Given the description of an element on the screen output the (x, y) to click on. 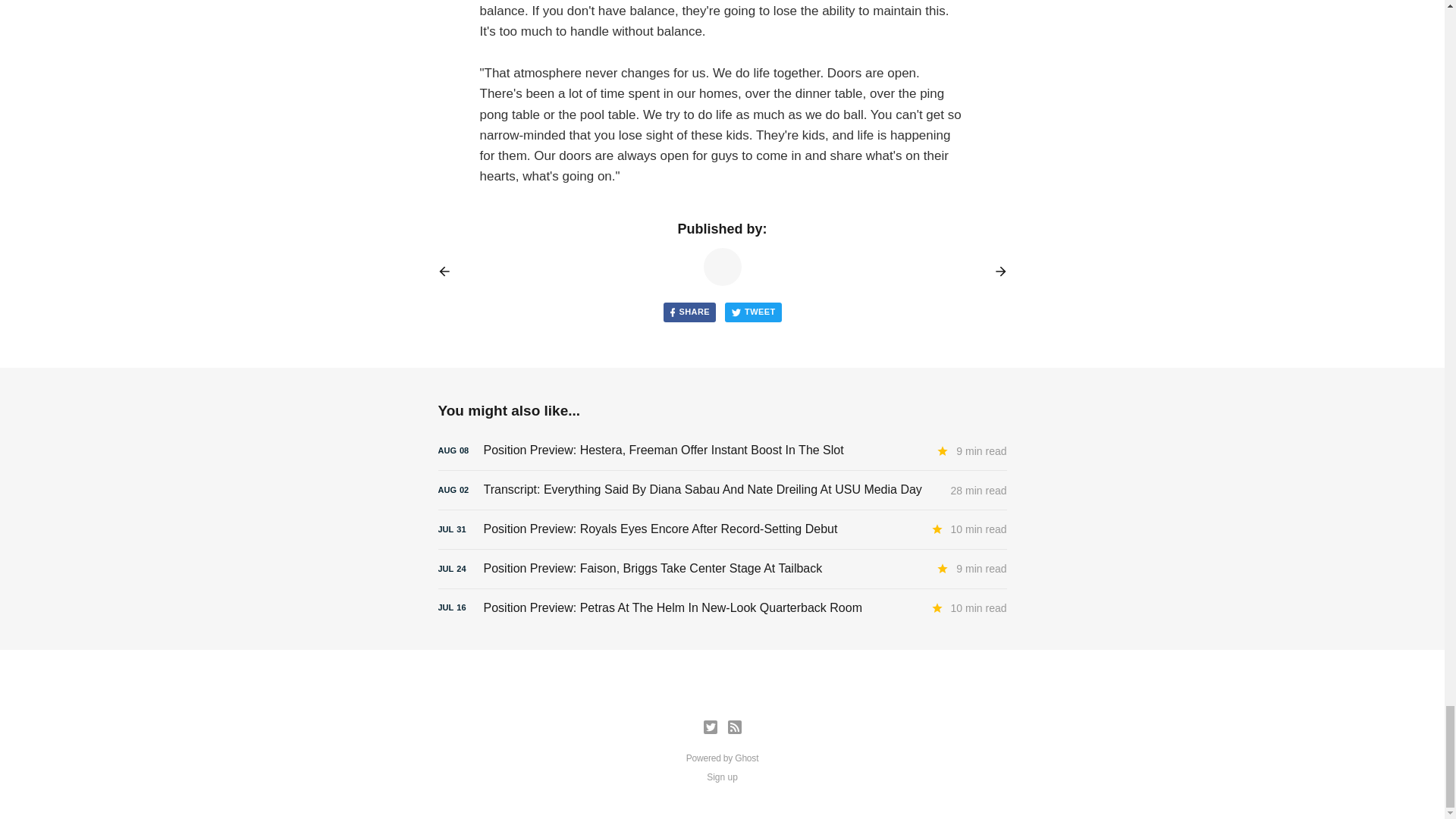
TWEET (753, 312)
Ghost (746, 757)
Sign up (722, 777)
SHARE (689, 312)
